Given the description of an element on the screen output the (x, y) to click on. 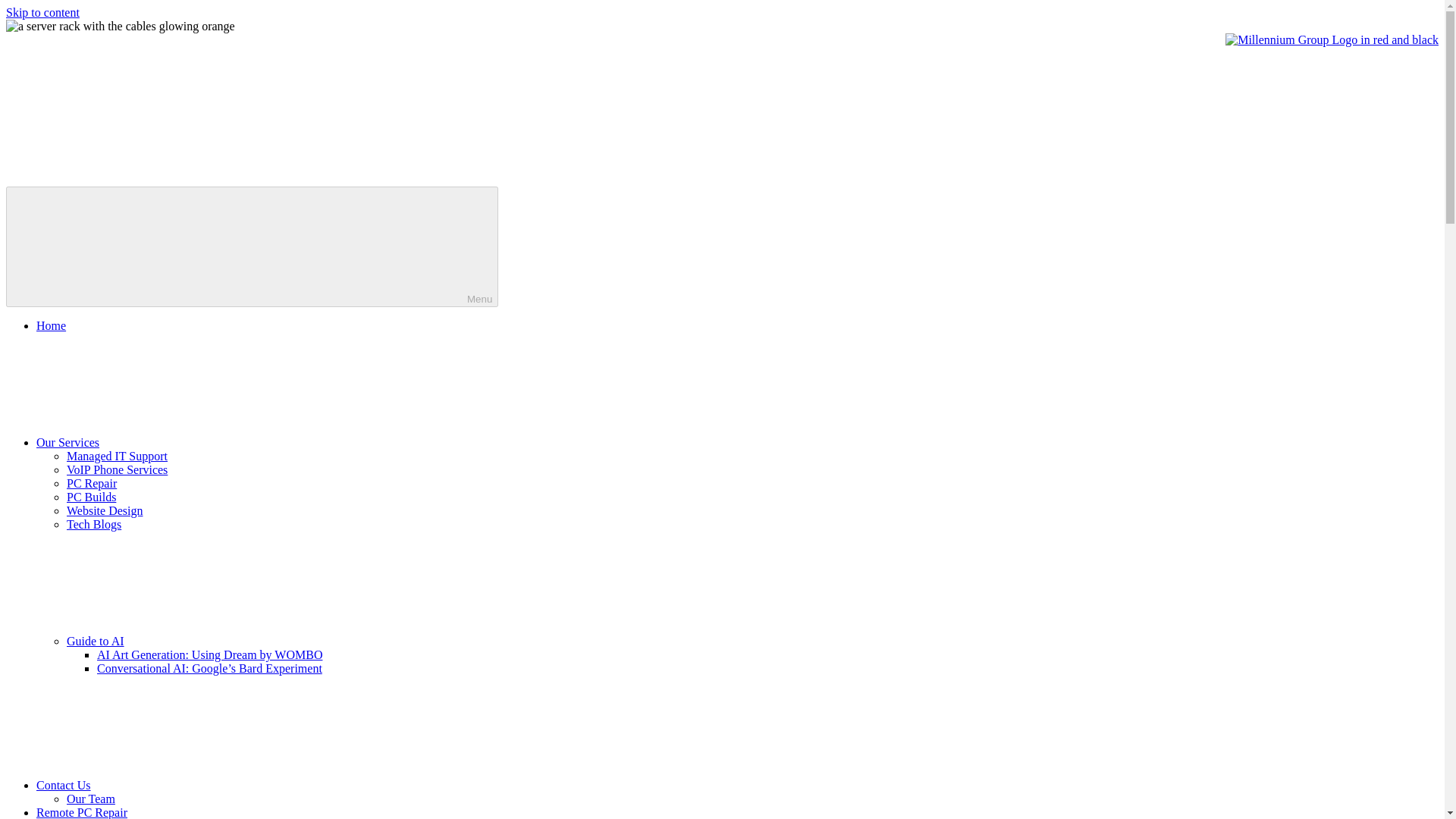
PC Repair (91, 482)
PC Builds (91, 496)
Guide to AI (209, 640)
Remote PC Repair (82, 812)
Contact Us (177, 784)
Skip to content (42, 11)
Website Design (104, 510)
Our Services (181, 441)
Managed IT Support (116, 455)
AI Art Generation: Using Dream by WOMBO (209, 654)
